Given the description of an element on the screen output the (x, y) to click on. 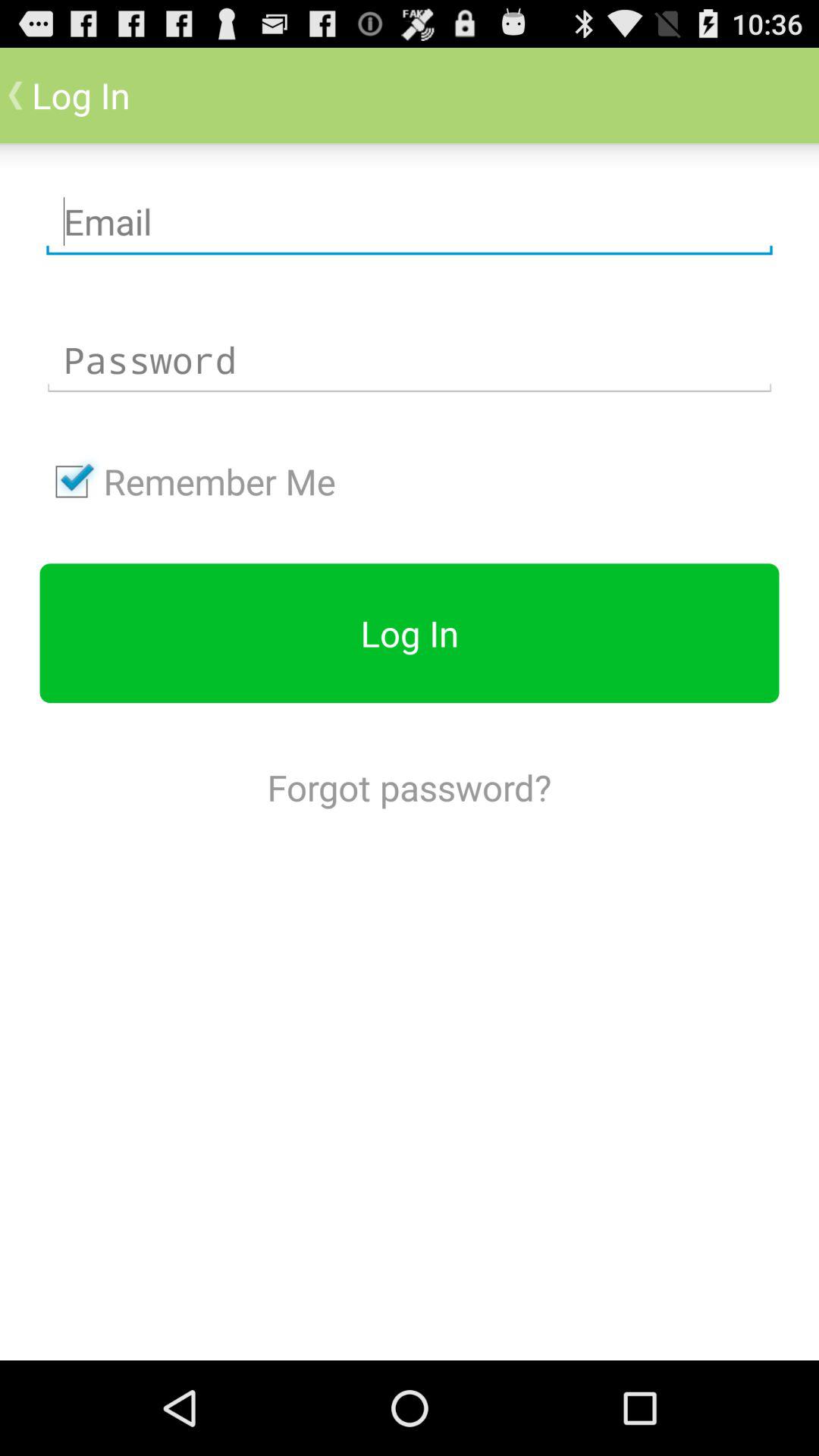
click the button below the log in item (409, 787)
